Given the description of an element on the screen output the (x, y) to click on. 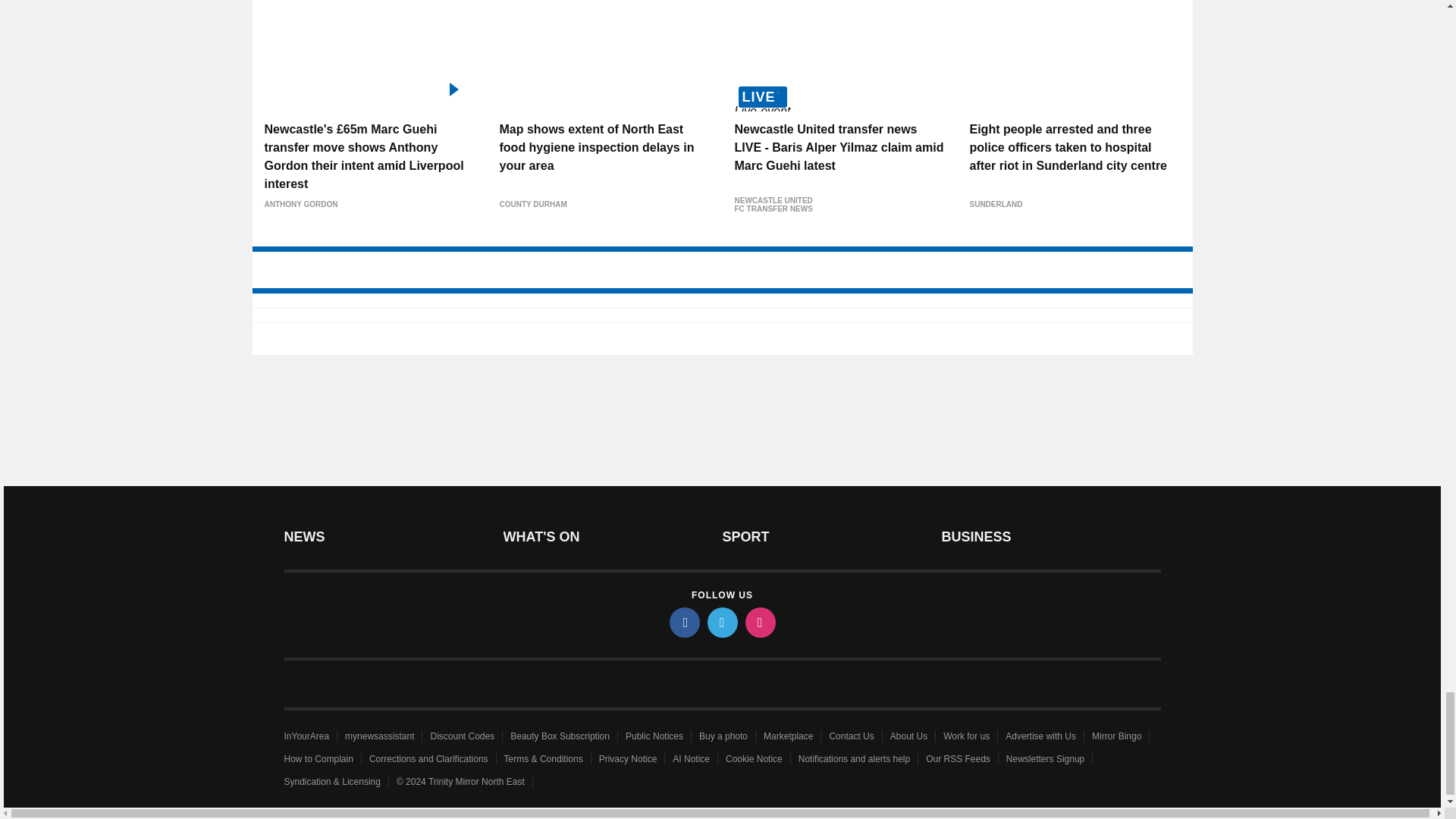
twitter (721, 622)
facebook (683, 622)
instagram (759, 622)
